Given the description of an element on the screen output the (x, y) to click on. 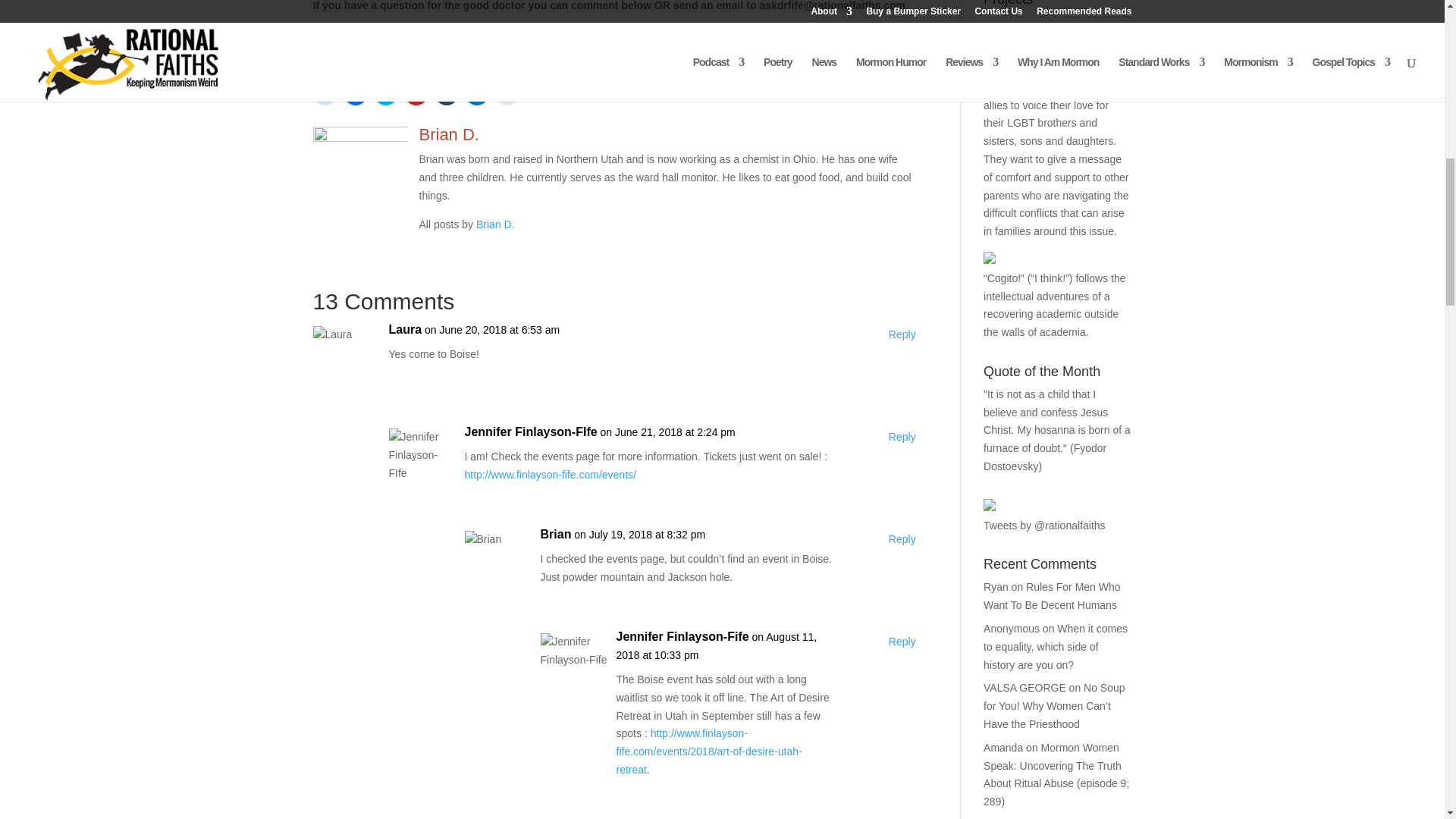
Click to share on Twitter (384, 93)
Click to share on Tumblr (445, 93)
Click to share on LinkedIn (475, 93)
Click to share on Pinterest (415, 93)
Click to share on Reddit (324, 93)
Posts by Brian D. (495, 224)
Posts by Brian D. (449, 134)
Click to email a link to a friend (506, 93)
Click to share on Facebook (354, 93)
